Given the description of an element on the screen output the (x, y) to click on. 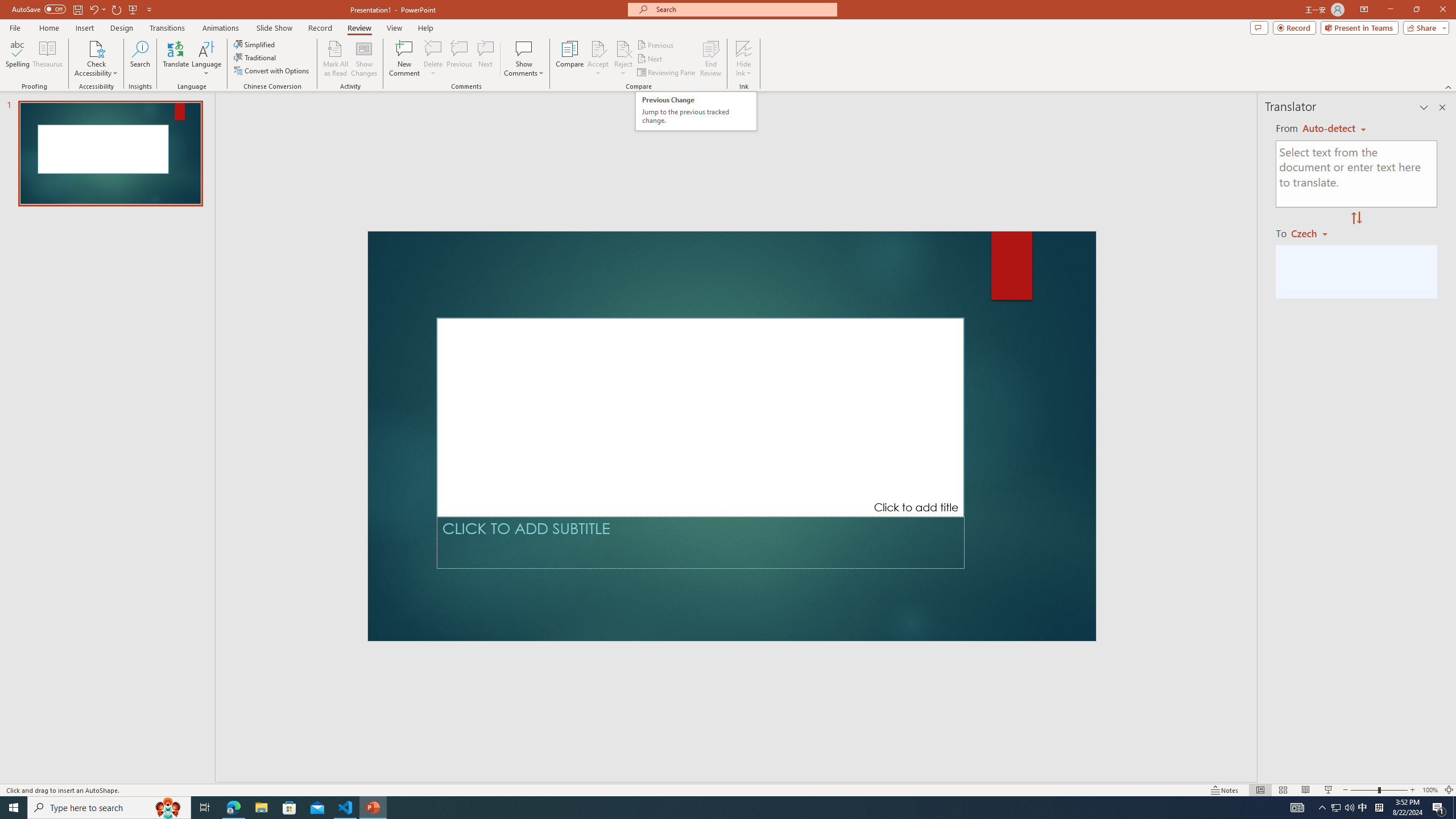
Simplified (254, 44)
